Given the description of an element on the screen output the (x, y) to click on. 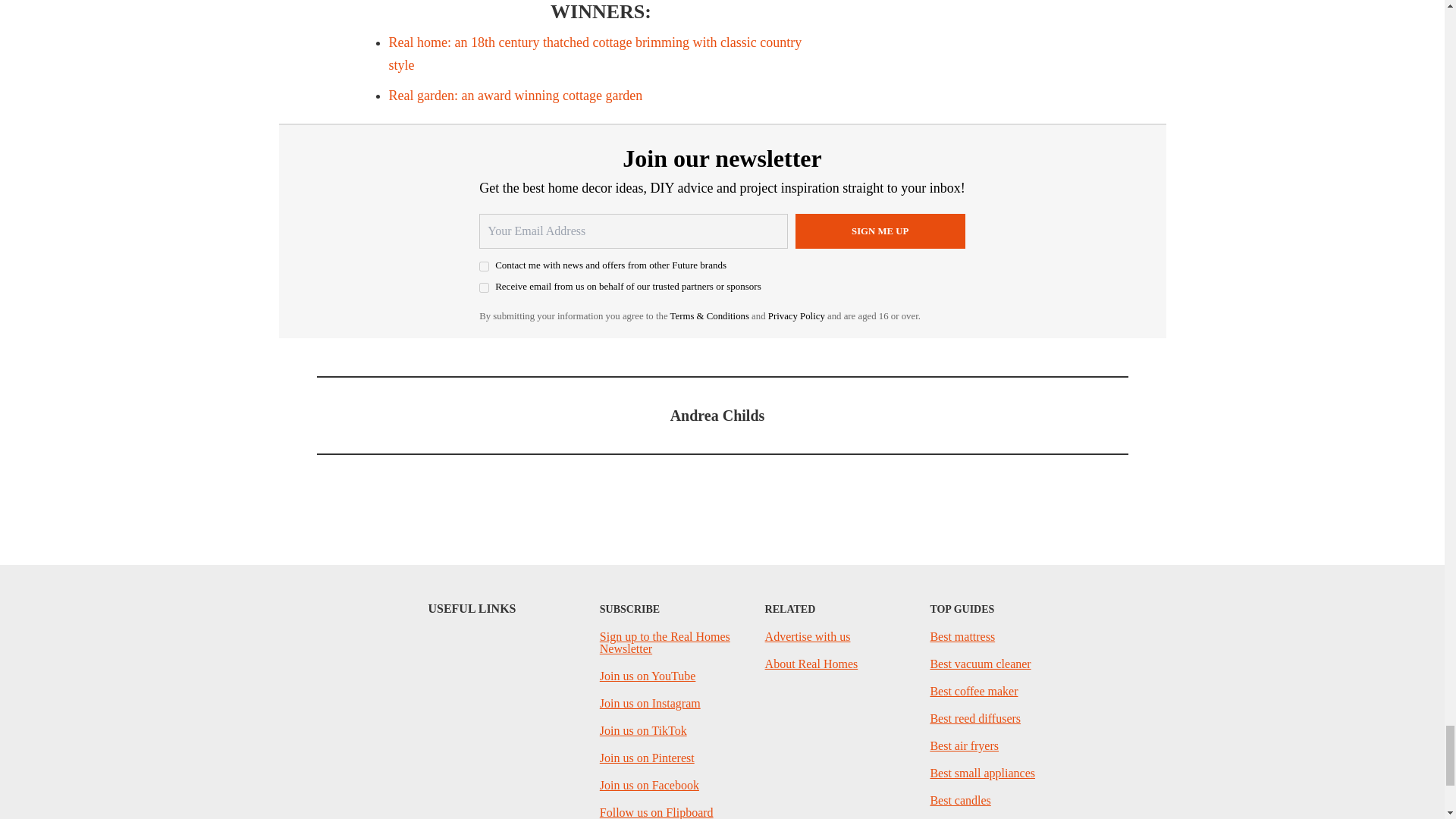
Sign me up (879, 230)
on (484, 266)
on (484, 287)
